Given the description of an element on the screen output the (x, y) to click on. 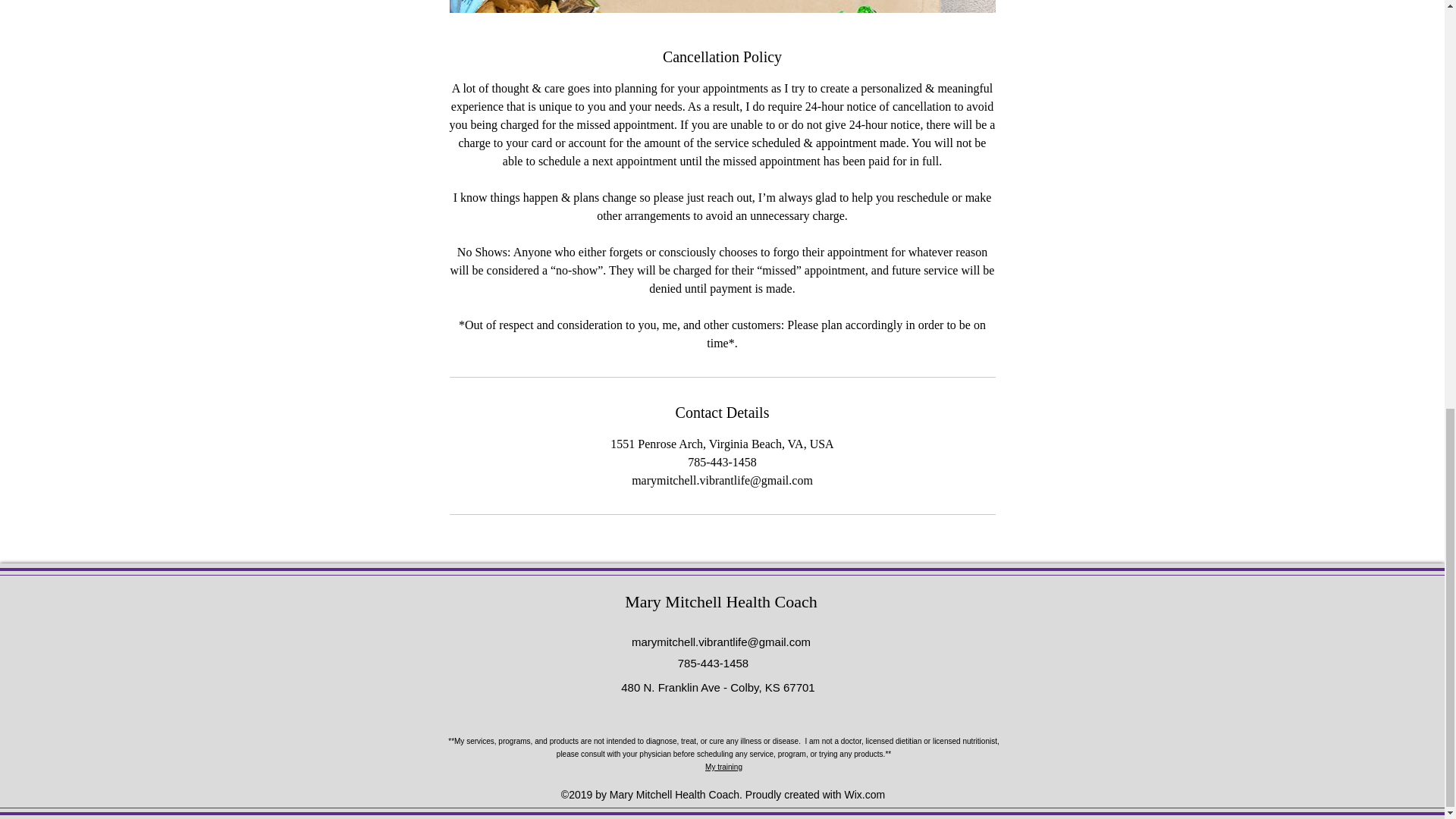
My training (723, 765)
Mary Mitchell Health Coach (720, 601)
